Given the description of an element on the screen output the (x, y) to click on. 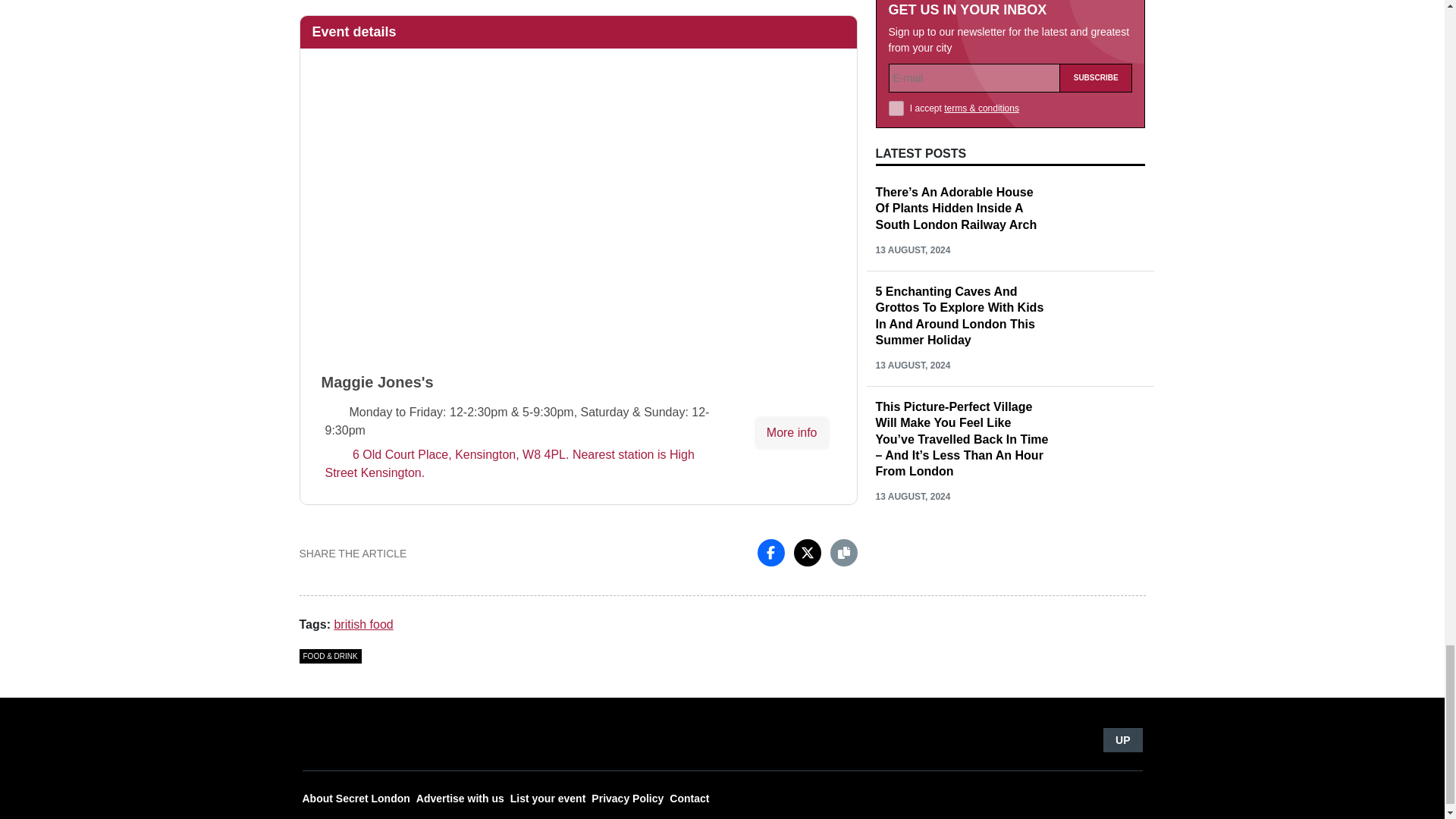
More info (791, 432)
Event details (578, 31)
